Given the description of an element on the screen output the (x, y) to click on. 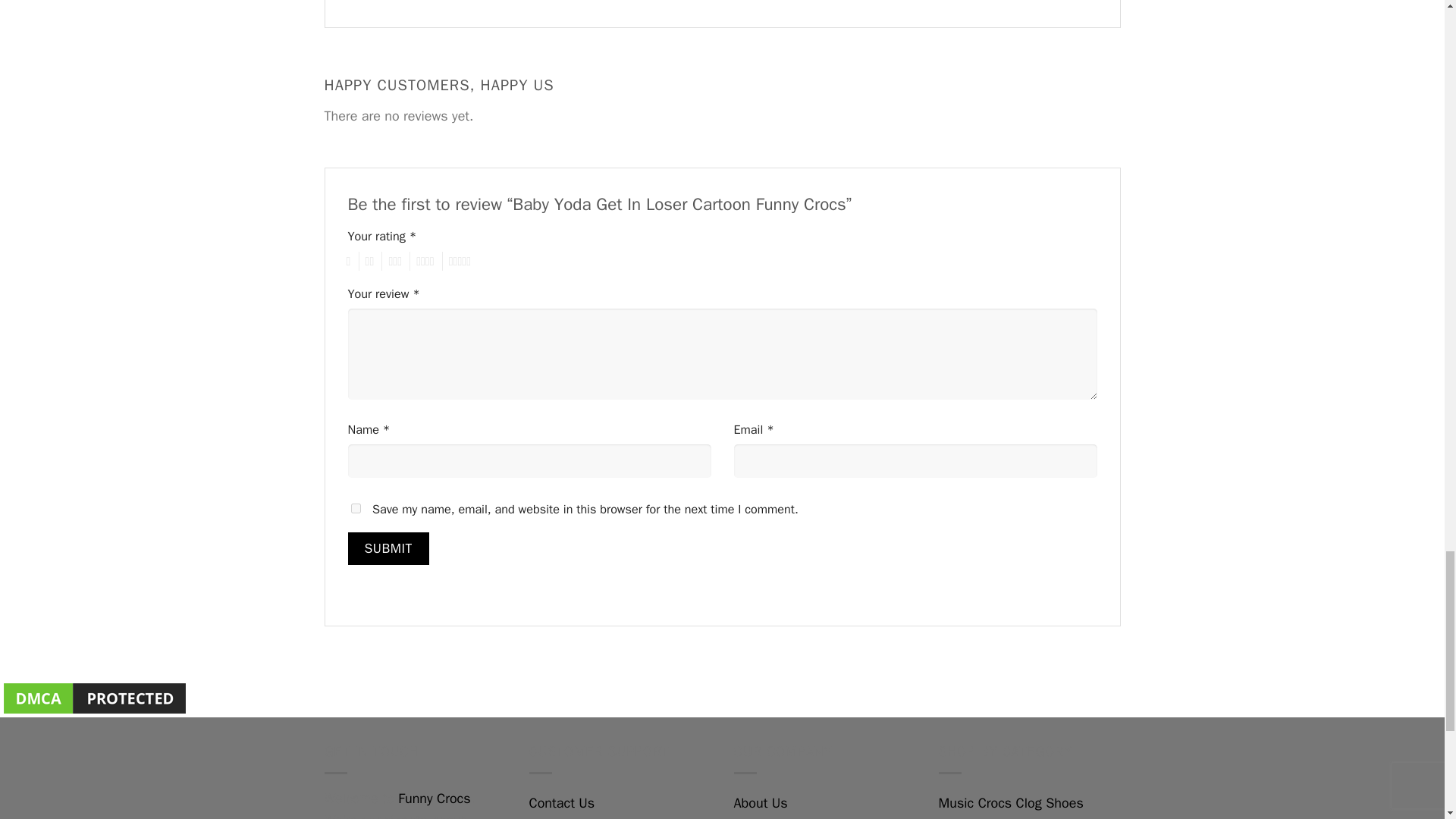
Submit (387, 548)
yes (354, 508)
